Given the description of an element on the screen output the (x, y) to click on. 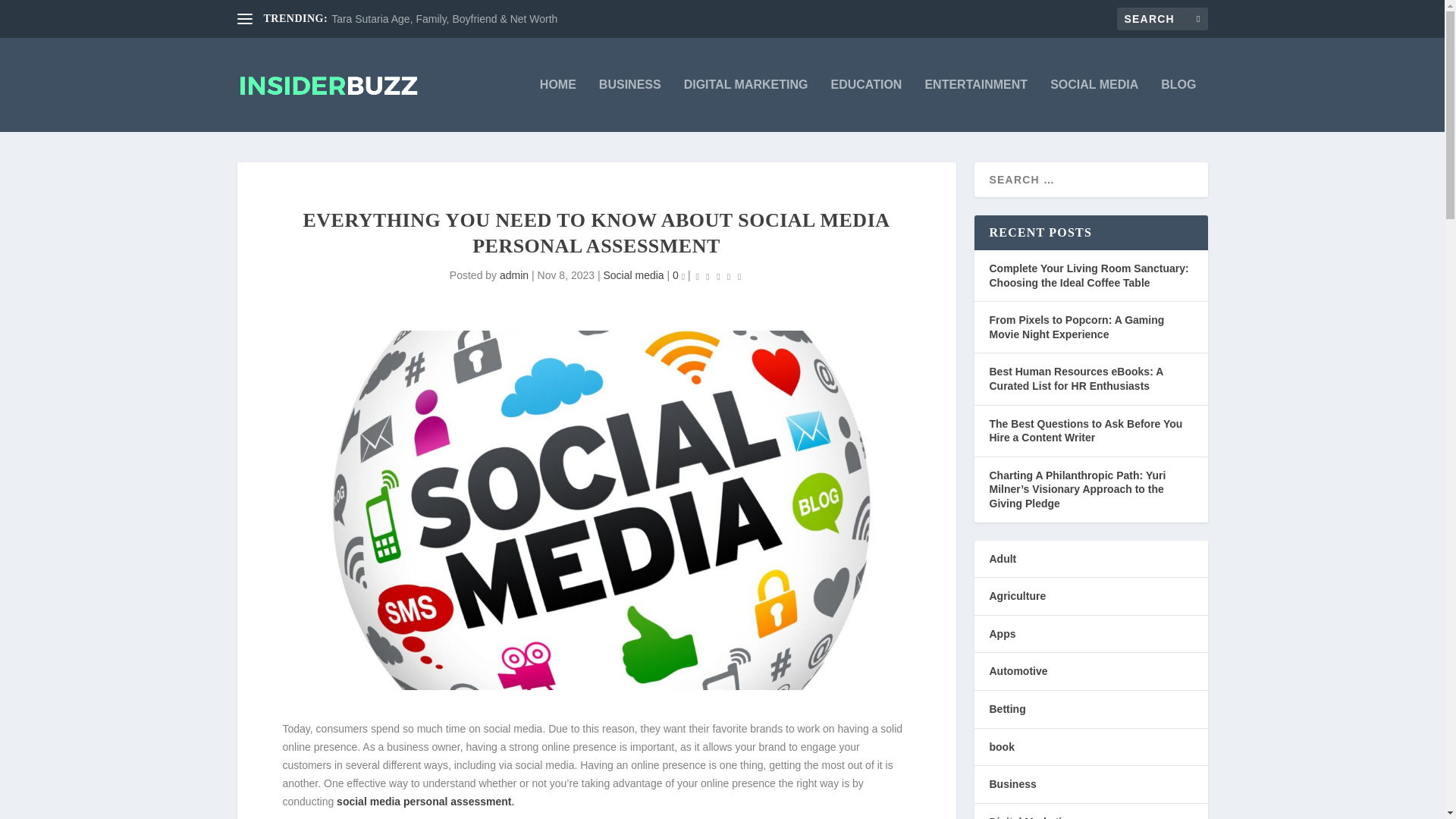
Rating: 0.00 (719, 275)
Social media (633, 275)
BUSINESS (629, 104)
social media personal assessment (423, 801)
Posts by admin (513, 275)
EDUCATION (866, 104)
Search for: (1161, 18)
admin (513, 275)
DIGITAL MARKETING (746, 104)
0 (678, 275)
SOCIAL MEDIA (1093, 104)
ENTERTAINMENT (975, 104)
